Given the description of an element on the screen output the (x, y) to click on. 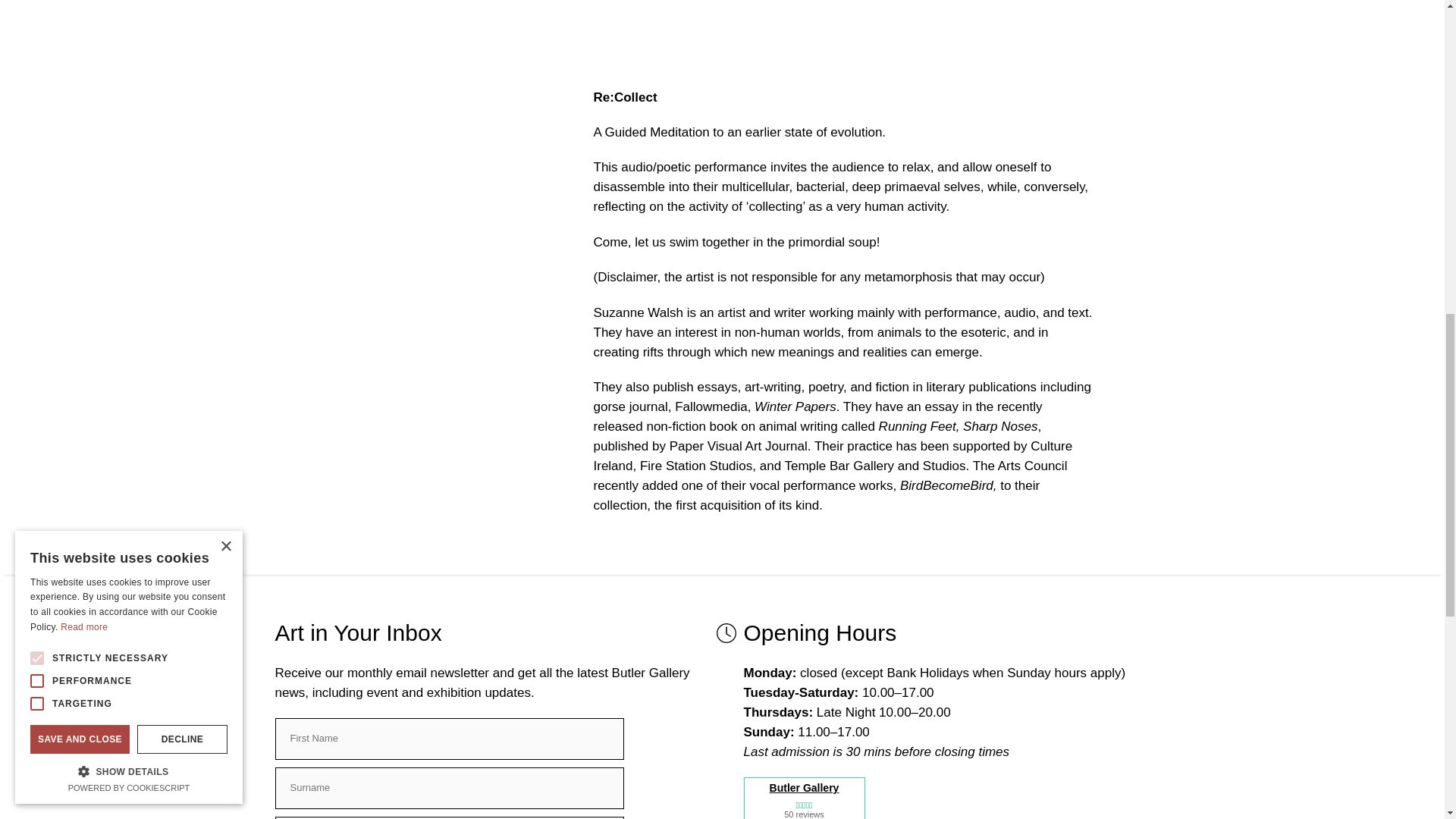
YouTube video player (842, 32)
